Given the description of an element on the screen output the (x, y) to click on. 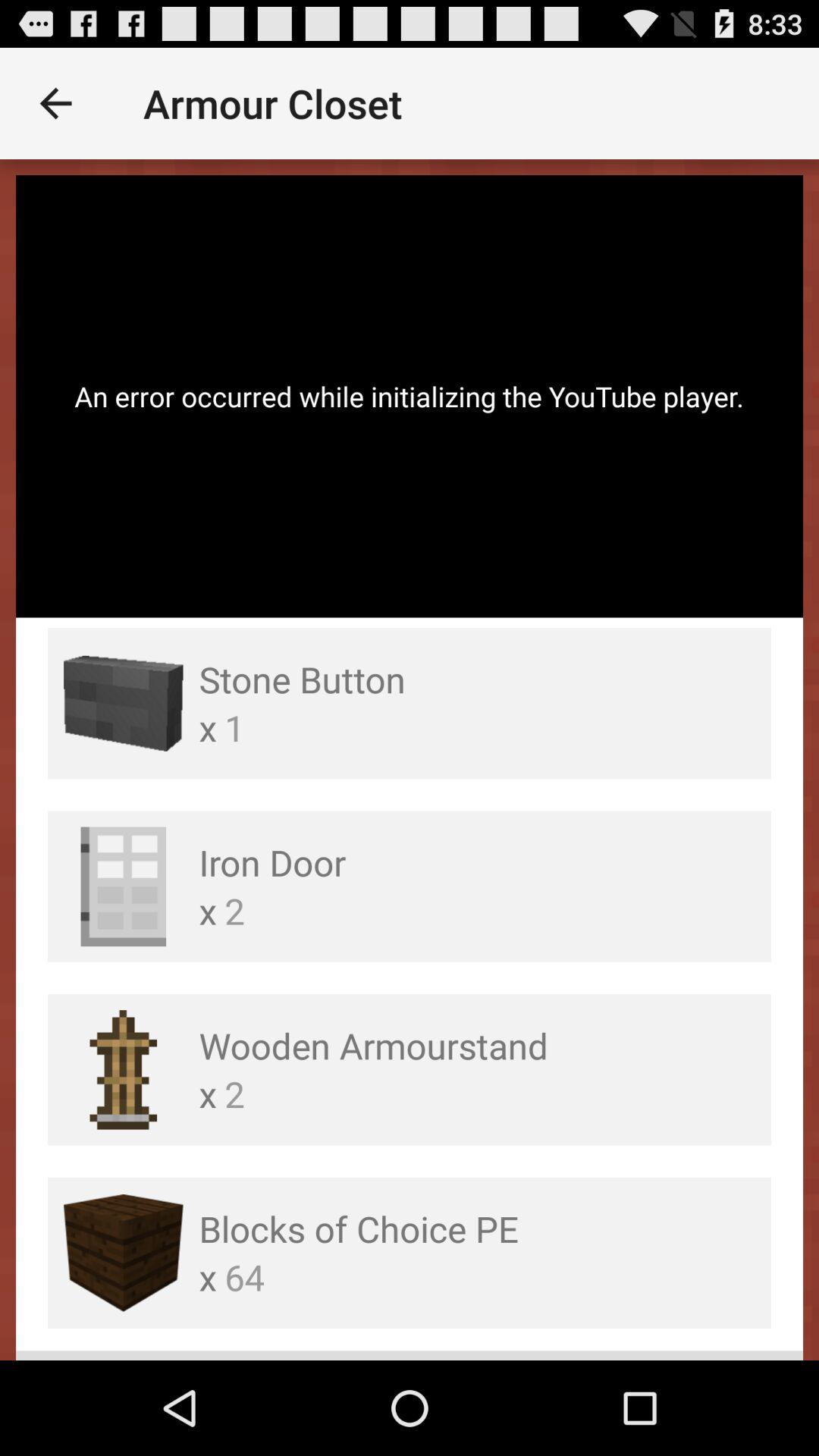
launch the icon to the left of the armour closet item (55, 103)
